Given the description of an element on the screen output the (x, y) to click on. 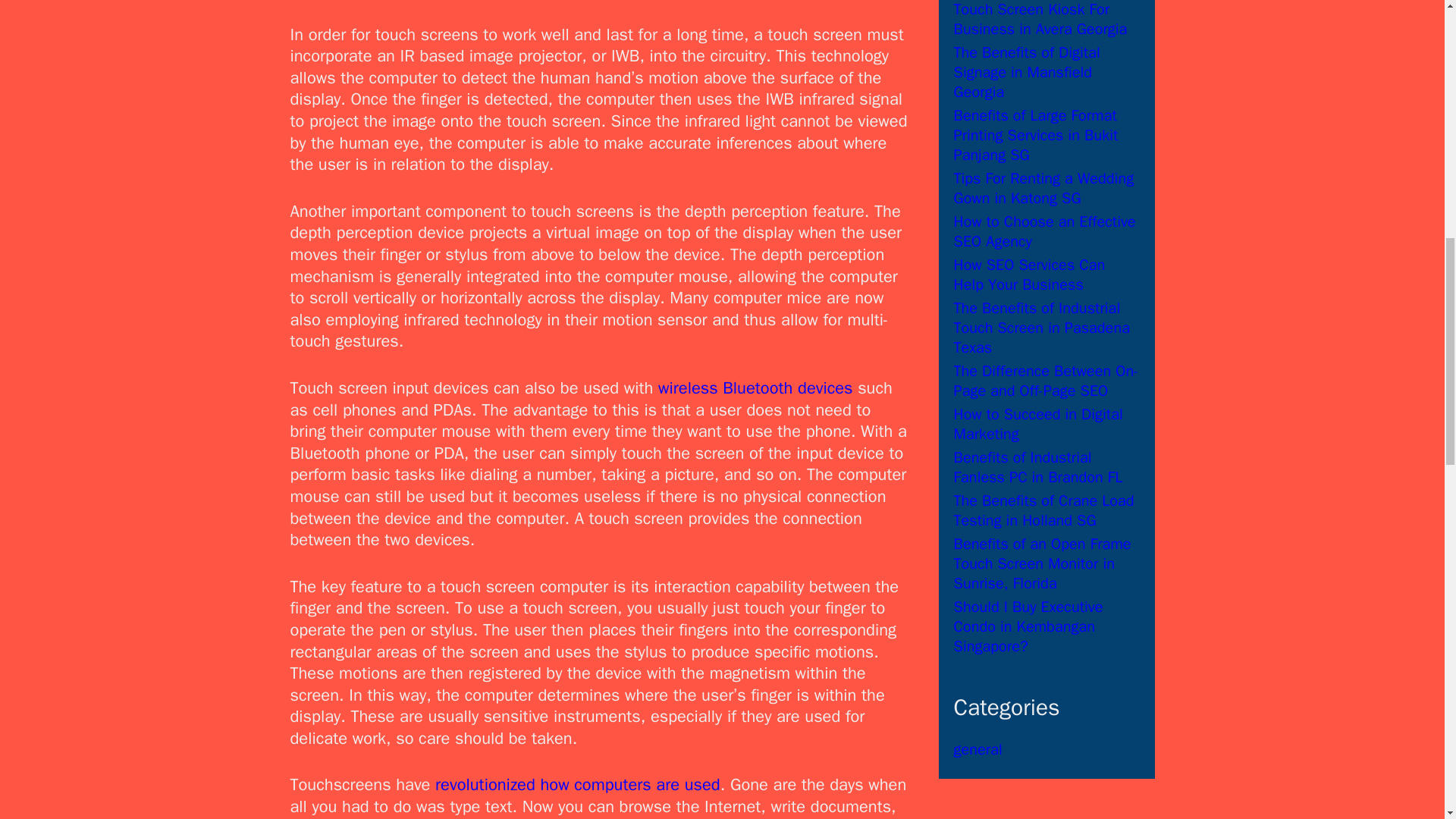
The Benefits of Digital Signage in Mansfield Georgia (1026, 72)
wireless Bluetooth devices (755, 387)
Tips For Renting a Wedding Gown in Katong SG (1043, 188)
revolutionized how computers are used (577, 784)
